Given the description of an element on the screen output the (x, y) to click on. 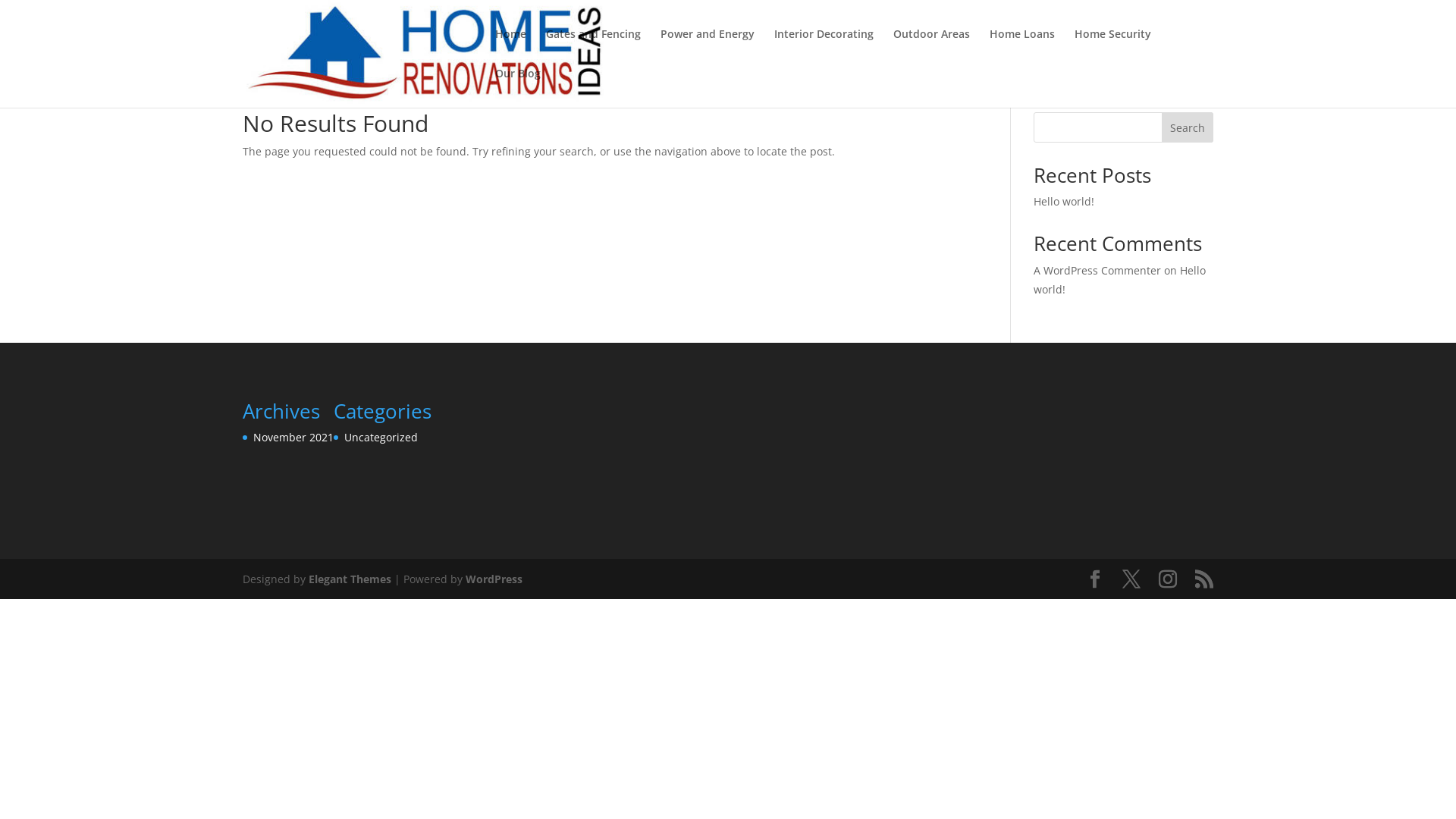
Hello world! Element type: text (1063, 201)
Elegant Themes Element type: text (349, 578)
Interior Decorating Element type: text (823, 48)
Home Security Element type: text (1112, 48)
Home Loans Element type: text (1021, 48)
A WordPress Commenter Element type: text (1097, 270)
Hello world! Element type: text (1119, 279)
Outdoor Areas Element type: text (931, 48)
Power and Energy Element type: text (707, 48)
Gates and Fencing Element type: text (593, 48)
November 2021 Element type: text (293, 436)
Uncategorized Element type: text (380, 436)
Our Blog Element type: text (517, 87)
WordPress Element type: text (493, 578)
Search Element type: text (1187, 127)
Home Element type: text (510, 48)
